Given the description of an element on the screen output the (x, y) to click on. 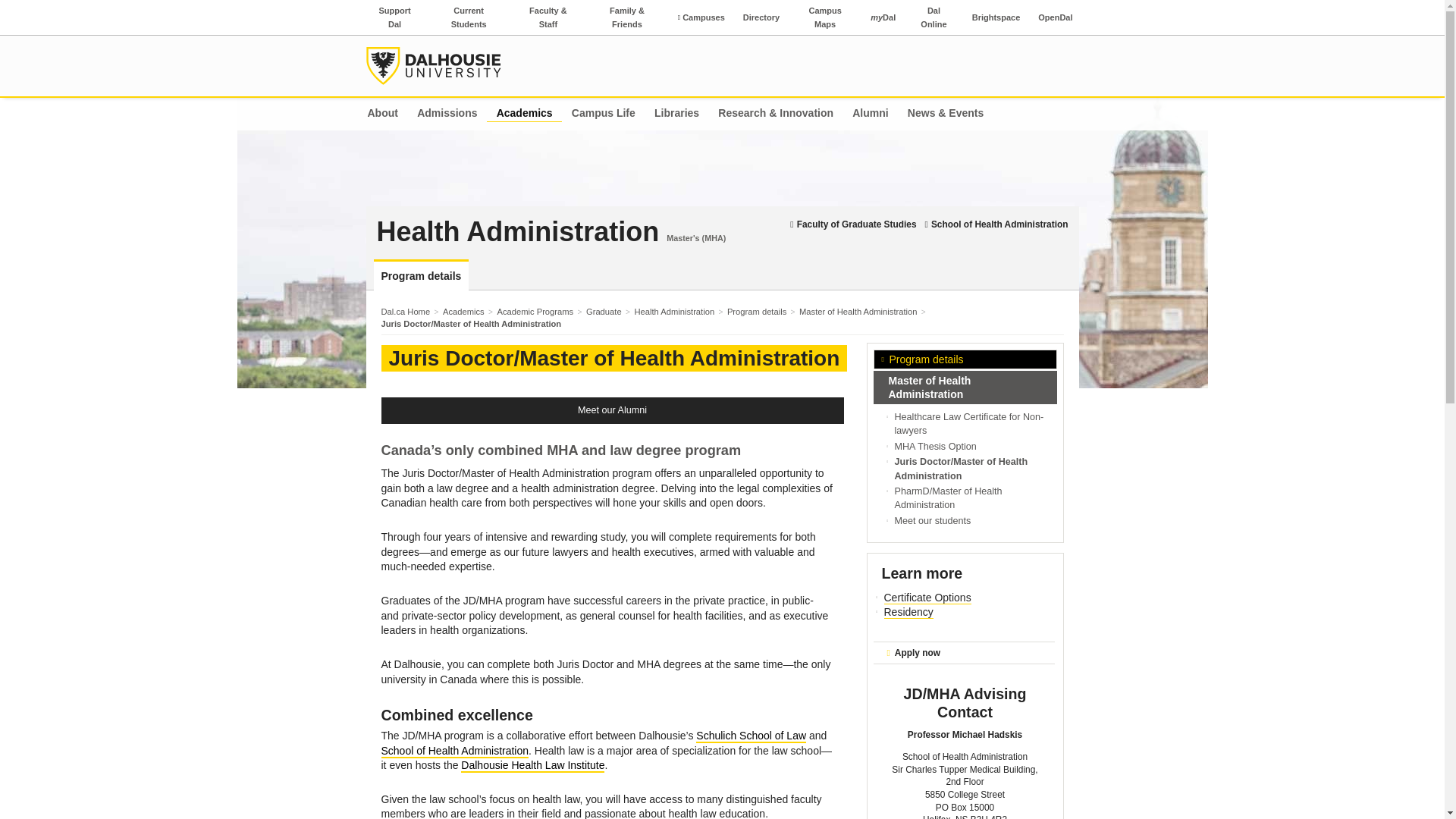
Academic Programs (538, 311)
Campus Maps (825, 17)
Campuses (700, 17)
Campus Life (603, 114)
Support Dal (394, 17)
Meet our students (933, 520)
Healthcare Law Certificate for Non-lawyers (969, 423)
Brightspace (996, 17)
School of Health Administration (994, 224)
Current Students (468, 17)
